Given the description of an element on the screen output the (x, y) to click on. 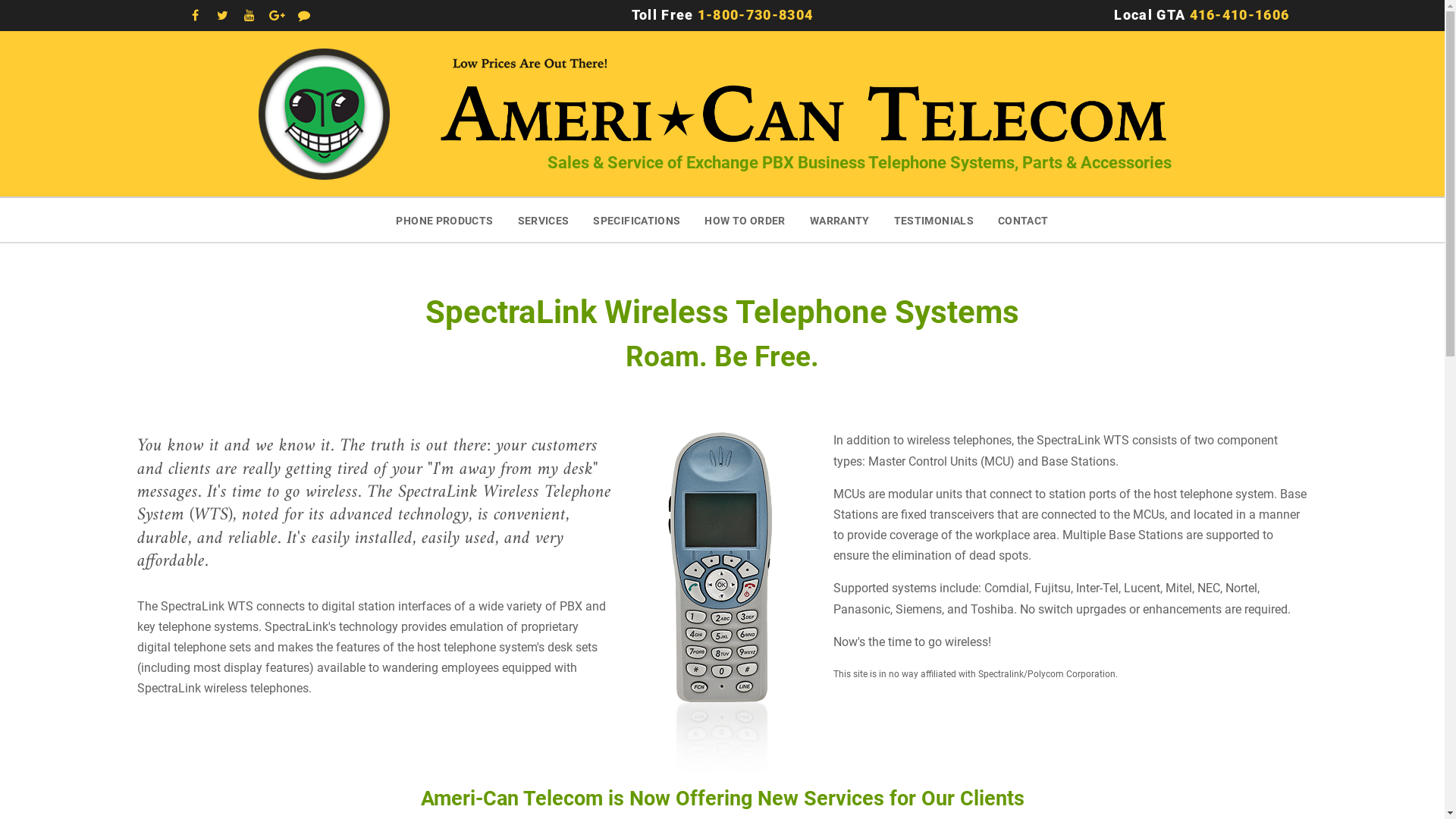
CONTACT Element type: text (1022, 219)
PHONE PRODUCTS Element type: text (444, 219)
WARRANTY Element type: text (839, 219)
416-410-1606 Element type: text (1239, 15)
HOW TO ORDER Element type: text (744, 219)
SERVICES Element type: text (543, 219)
TESTIMONIALS Element type: text (933, 219)
SpectraLink WTS Phone Equipment Element type: hover (721, 600)
1-800-730-8304 Element type: text (754, 15)
SPECIFICATIONS Element type: text (636, 219)
Go to 1ACT Ameri-Can Telecom Homepage Element type: text (323, 113)
